Given the description of an element on the screen output the (x, y) to click on. 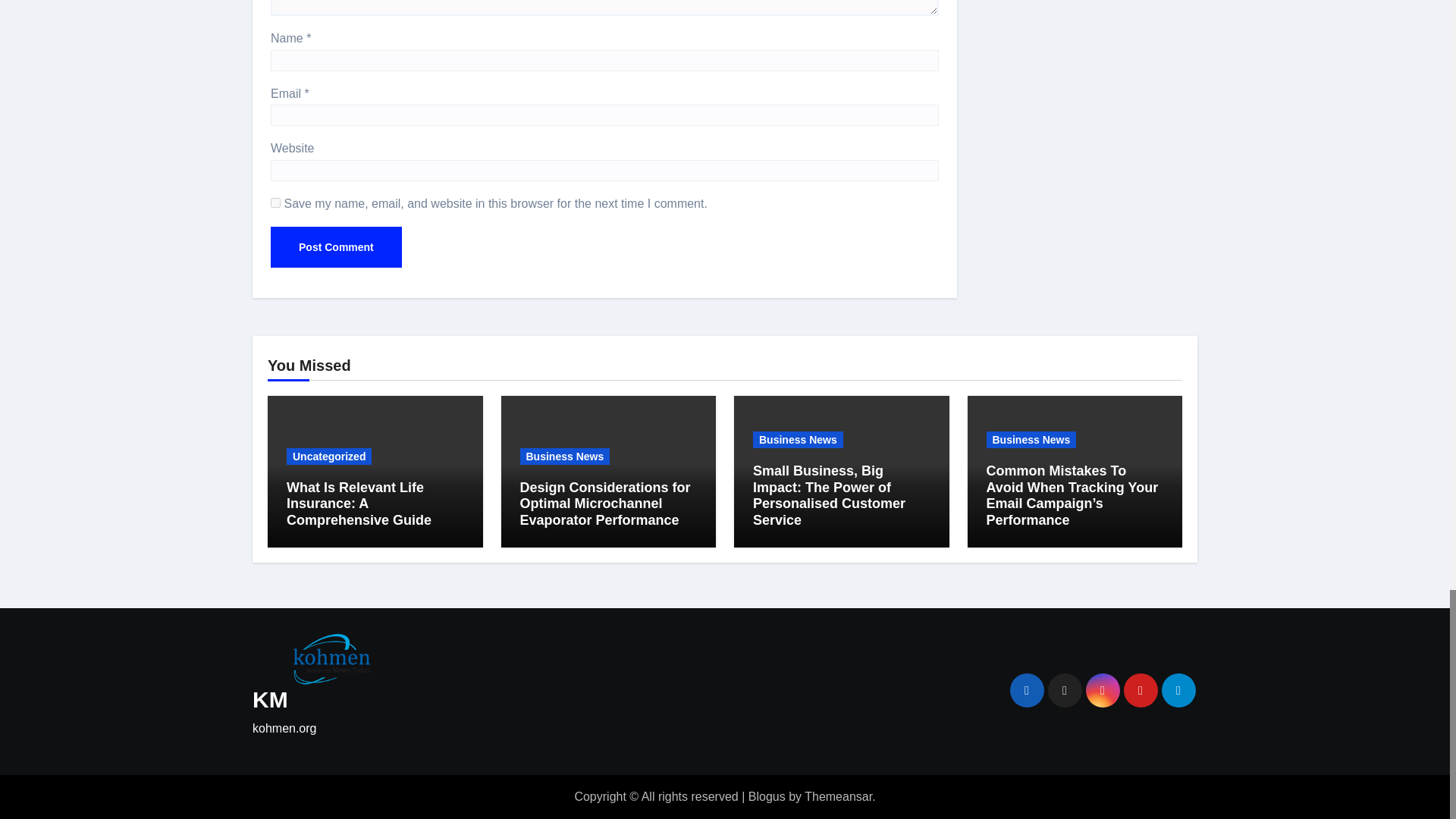
yes (275, 203)
Post Comment (335, 246)
